Given the description of an element on the screen output the (x, y) to click on. 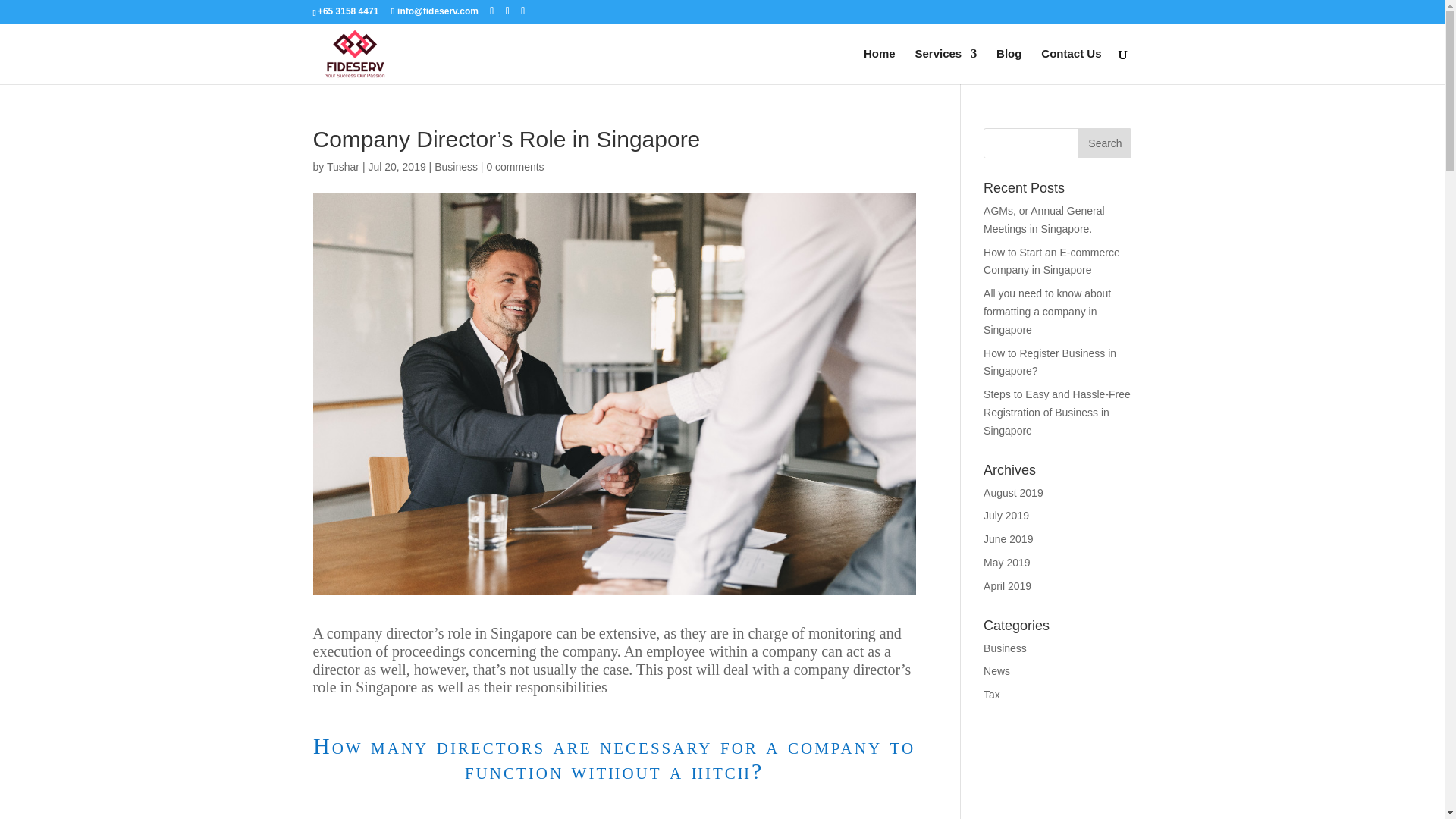
AGMs, or Annual General Meetings in Singapore. (1044, 219)
0 comments (514, 166)
Search (1104, 142)
Tushar (342, 166)
How to Start an E-commerce Company in Singapore (1051, 261)
Posts by Tushar (342, 166)
Home (879, 66)
Services (945, 66)
Contact Us (1070, 66)
Search (1104, 142)
Business (455, 166)
